Given the description of an element on the screen output the (x, y) to click on. 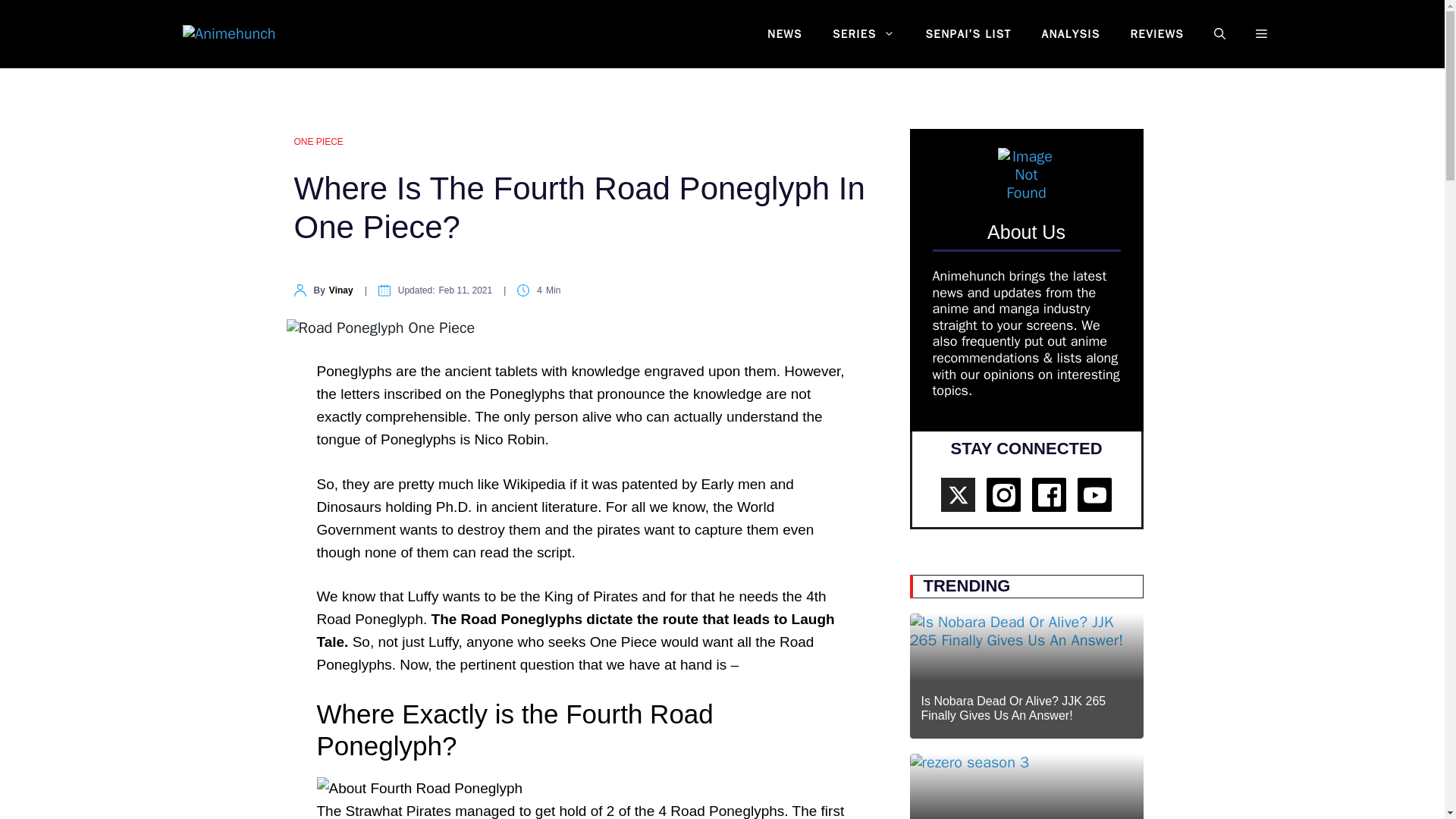
SERIES (863, 34)
NEWS (784, 34)
REVIEWS (1156, 34)
ANALYSIS (1070, 34)
